Given the description of an element on the screen output the (x, y) to click on. 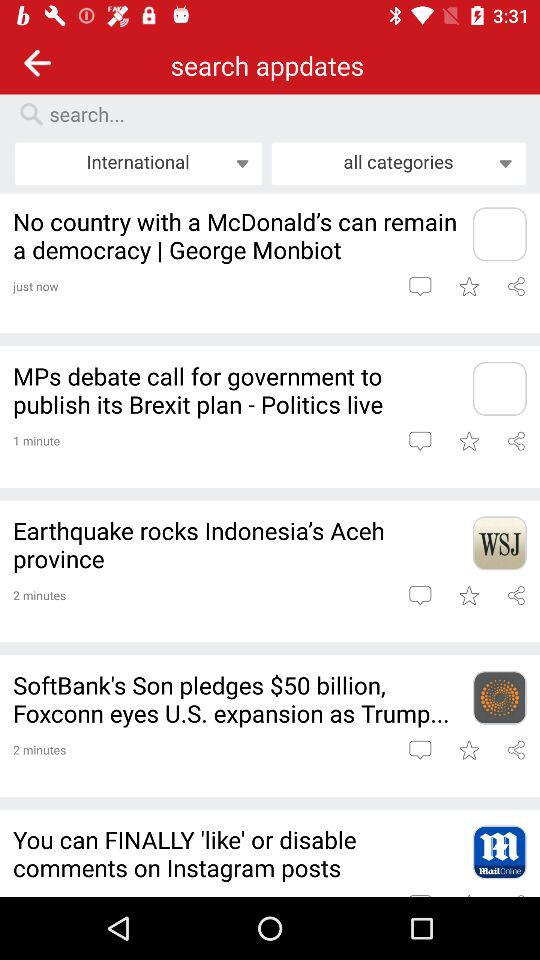
input search term (279, 113)
